Given the description of an element on the screen output the (x, y) to click on. 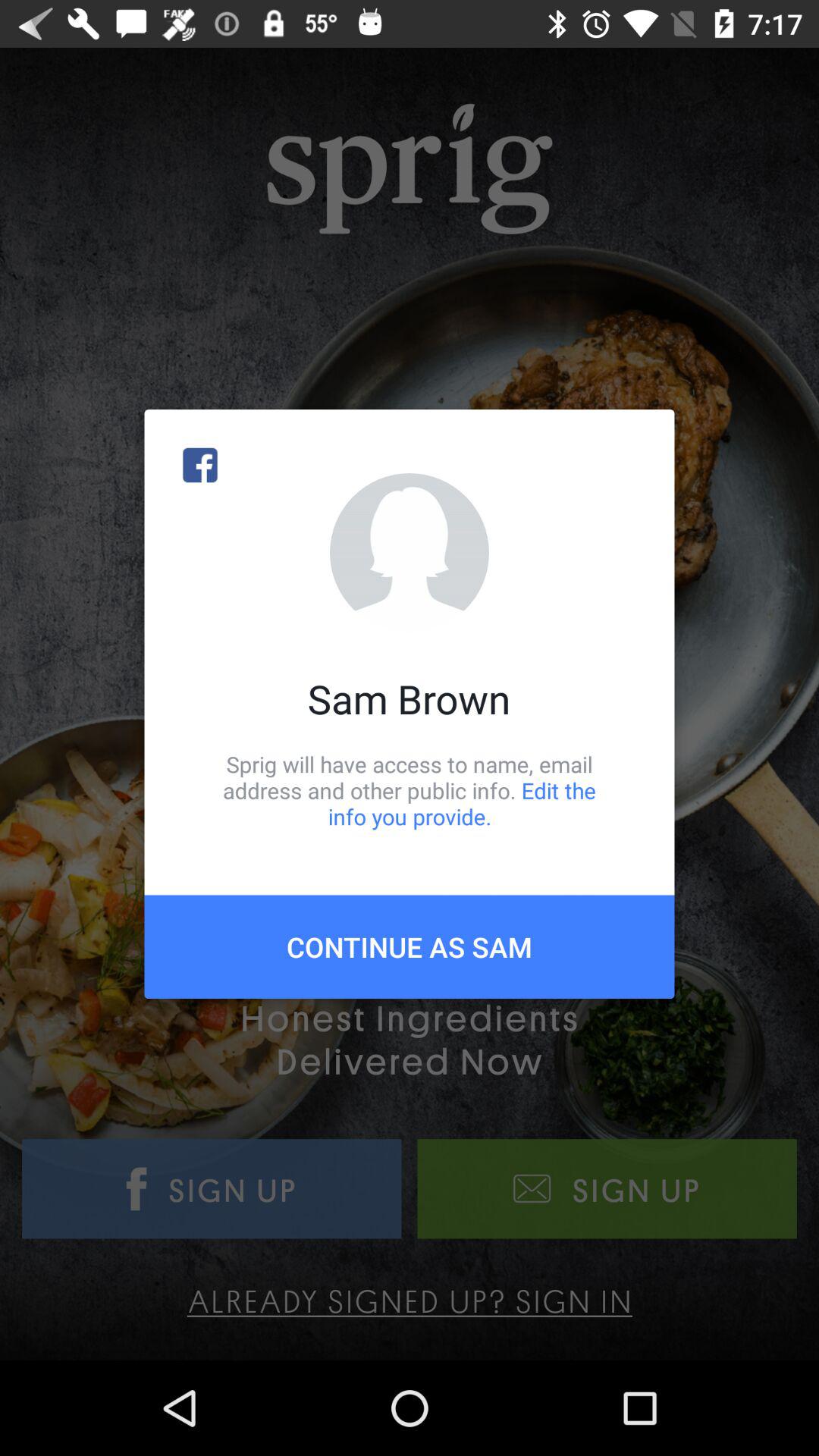
jump to continue as sam (409, 946)
